Given the description of an element on the screen output the (x, y) to click on. 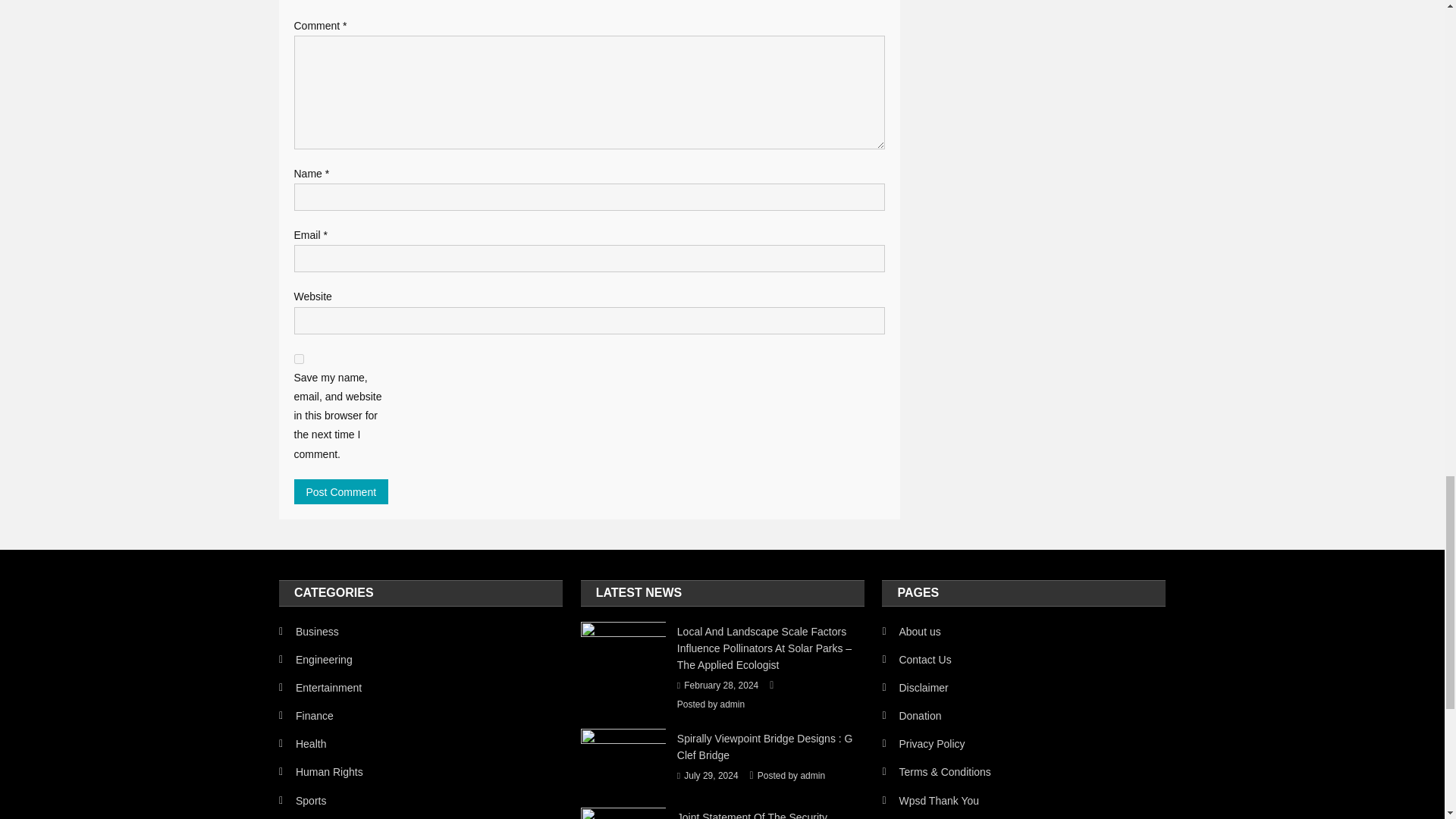
Post Comment (341, 491)
yes (299, 358)
